Given the description of an element on the screen output the (x, y) to click on. 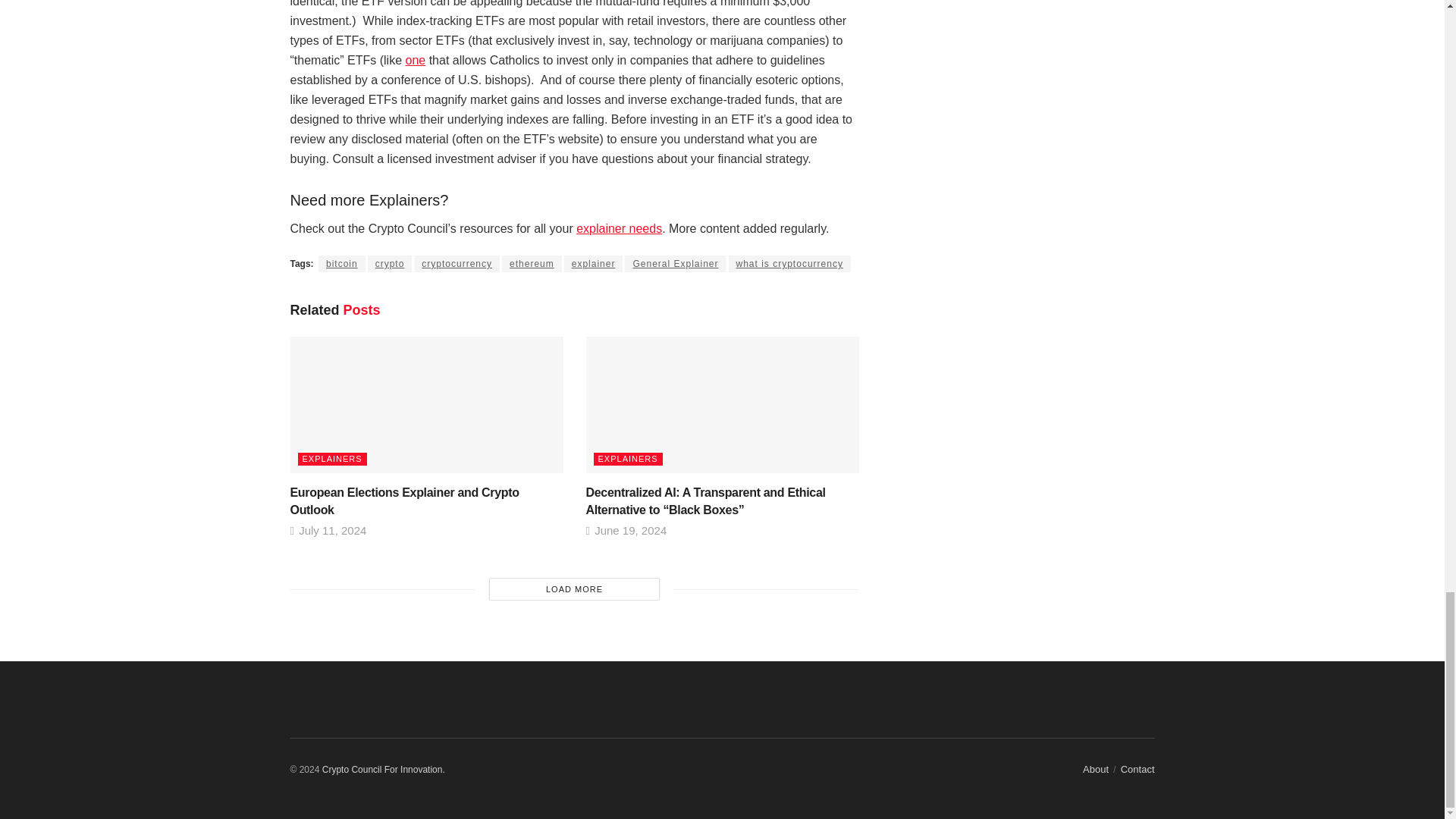
Crypto Council For Innovation (383, 769)
